Given the description of an element on the screen output the (x, y) to click on. 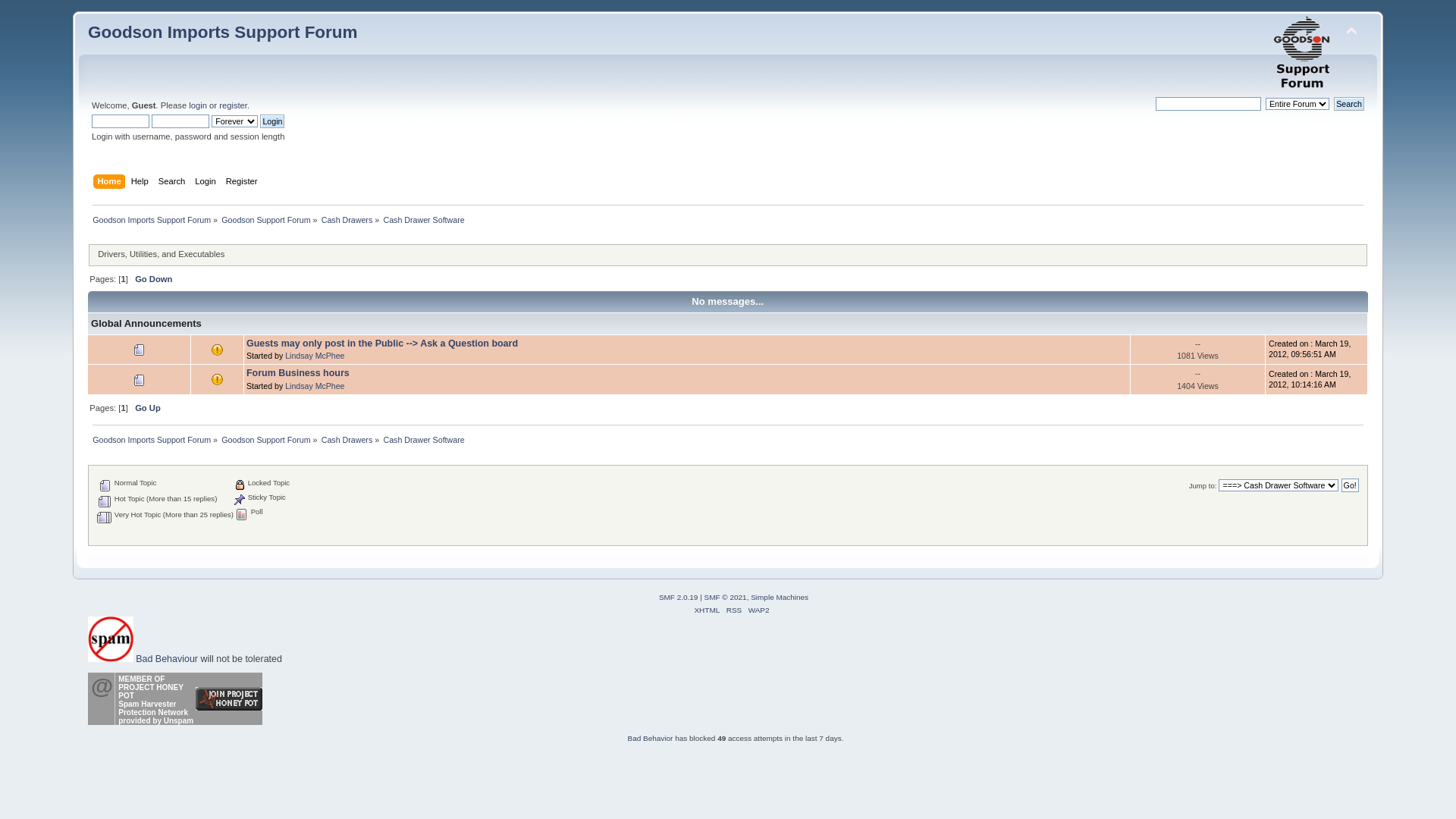
Goodson Support Forum Element type: text (265, 219)
Guests may only post in the Public --> Ask a Question board Element type: text (381, 343)
Goodson Support Forum Element type: text (265, 439)
Cash Drawer Software Element type: text (423, 439)
Lindsay McPhee Element type: text (314, 385)
RSS Element type: text (734, 609)
Register Element type: text (243, 182)
Home Element type: text (110, 182)
WAP2 Element type: text (758, 609)
Help Element type: text (141, 182)
Go! Element type: text (1349, 485)
Goodson Imports Support Forum Element type: text (222, 31)
Bad Behavior Element type: text (650, 738)
Go Up Element type: text (147, 407)
Cash Drawers Element type: text (347, 219)
MEMBER OF PROJECT HONEY POT Element type: text (150, 686)
Goodson Imports Support Forum Element type: text (151, 219)
Simple Machines Element type: text (779, 597)
XHTML Element type: text (706, 609)
Lindsay McPhee Element type: text (314, 355)
register Element type: text (233, 104)
Cash Drawers Element type: text (347, 439)
Search Element type: text (1348, 103)
Forum Business hours Element type: text (297, 372)
Goodson Imports Support Forum Element type: hover (1303, 53)
Go Down Element type: text (153, 278)
Shrink or expand the header. Element type: hover (1350, 31)
Goodson Imports Support Forum Element type: text (151, 439)
Spam Harvester Protection Network
provided by Unspam Element type: text (155, 711)
Cash Drawer Software Element type: text (423, 219)
Search Element type: text (173, 182)
Login Element type: text (206, 182)
Login Element type: text (272, 121)
Bad Behaviour Element type: text (167, 658)
SMF 2.0.19 Element type: text (678, 597)
login Element type: text (197, 104)
